Given the description of an element on the screen output the (x, y) to click on. 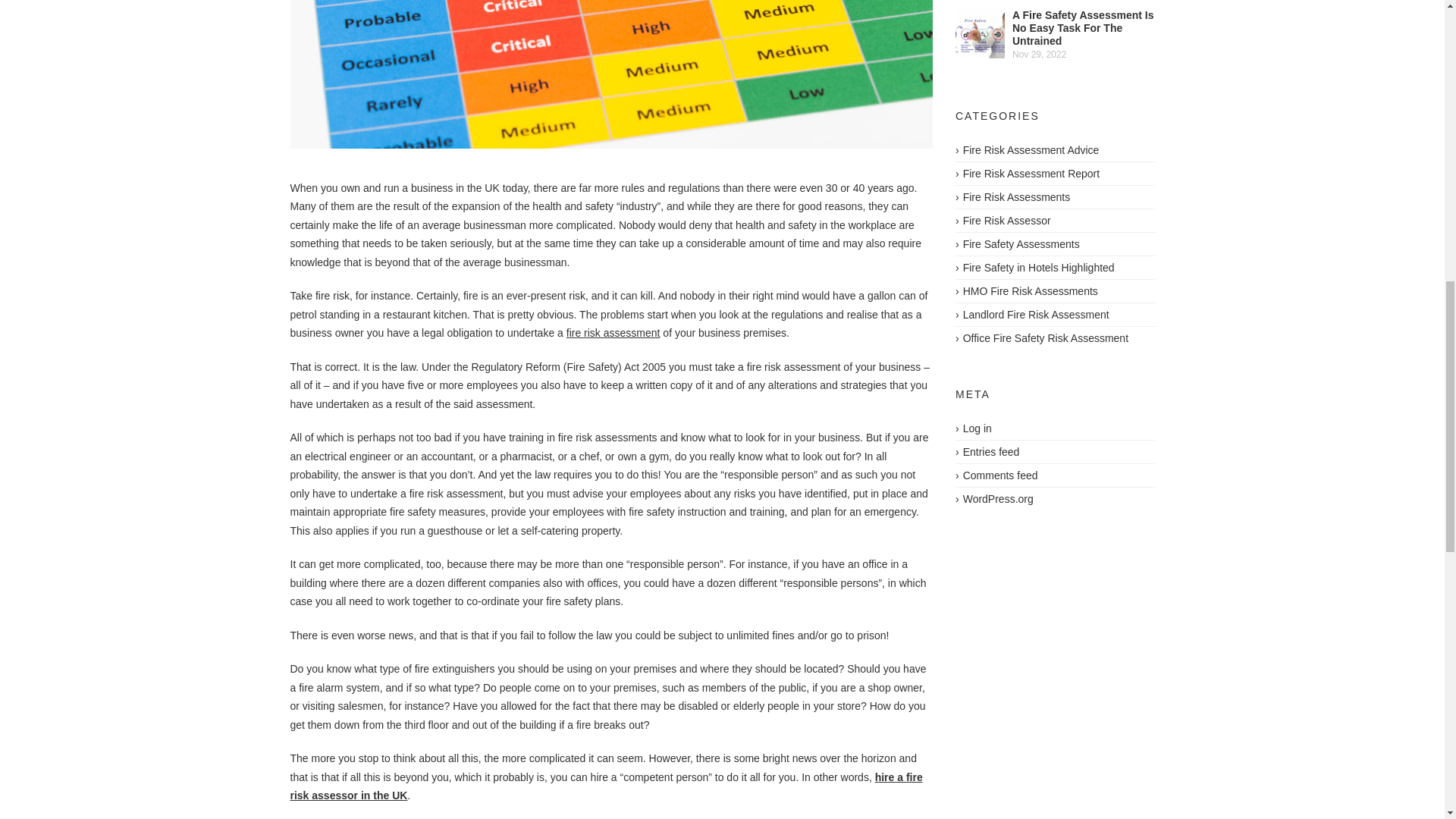
A Fire Safety Assessment Is No Easy Task For The Untrained (1082, 28)
A Fire Safety Assessment Is No Easy Task For The Untrained (979, 33)
fire risk assessment (613, 332)
hire a fire risk assessor in the UK (605, 786)
